Given the description of an element on the screen output the (x, y) to click on. 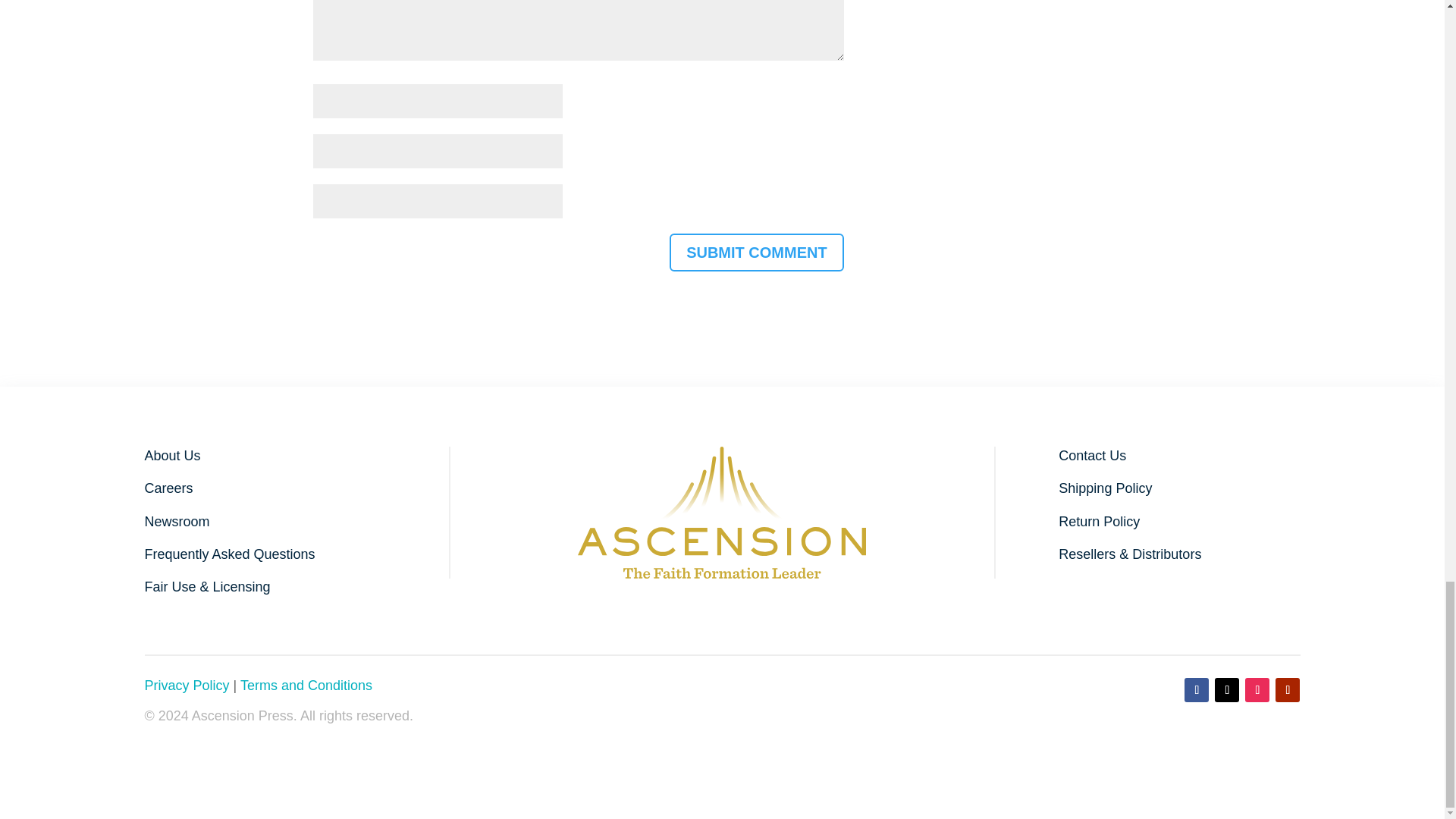
Follow on Instagram (1256, 689)
Follow on Facebook (1196, 689)
Submit Comment (756, 252)
logo-facebook (722, 512)
Follow on Youtube (1287, 689)
Follow on X (1226, 689)
